Given the description of an element on the screen output the (x, y) to click on. 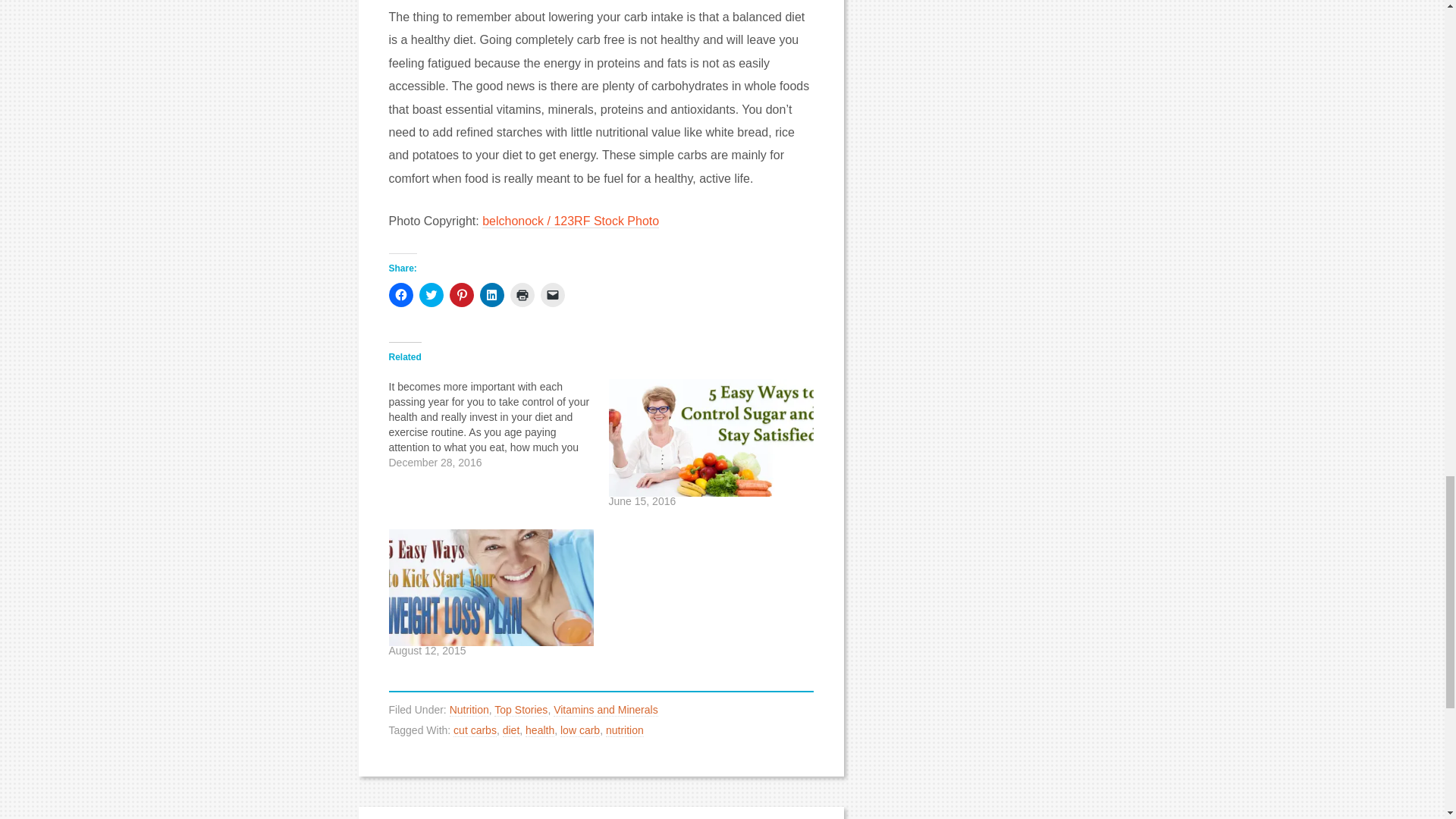
5 Easy Ways to Kick Start Your Weight Loss Plan (490, 587)
low carb (579, 730)
Click to share on LinkedIn (491, 294)
cut carbs (474, 730)
Click to share on Facebook (400, 294)
Click to email a link to a friend (552, 294)
Click to print (521, 294)
Nutrition (469, 709)
Top Stories (521, 709)
diet (510, 730)
health (539, 730)
nutrition (624, 730)
Click to share on Twitter (430, 294)
Click to share on Pinterest (460, 294)
Vitamins and Minerals (605, 709)
